Given the description of an element on the screen output the (x, y) to click on. 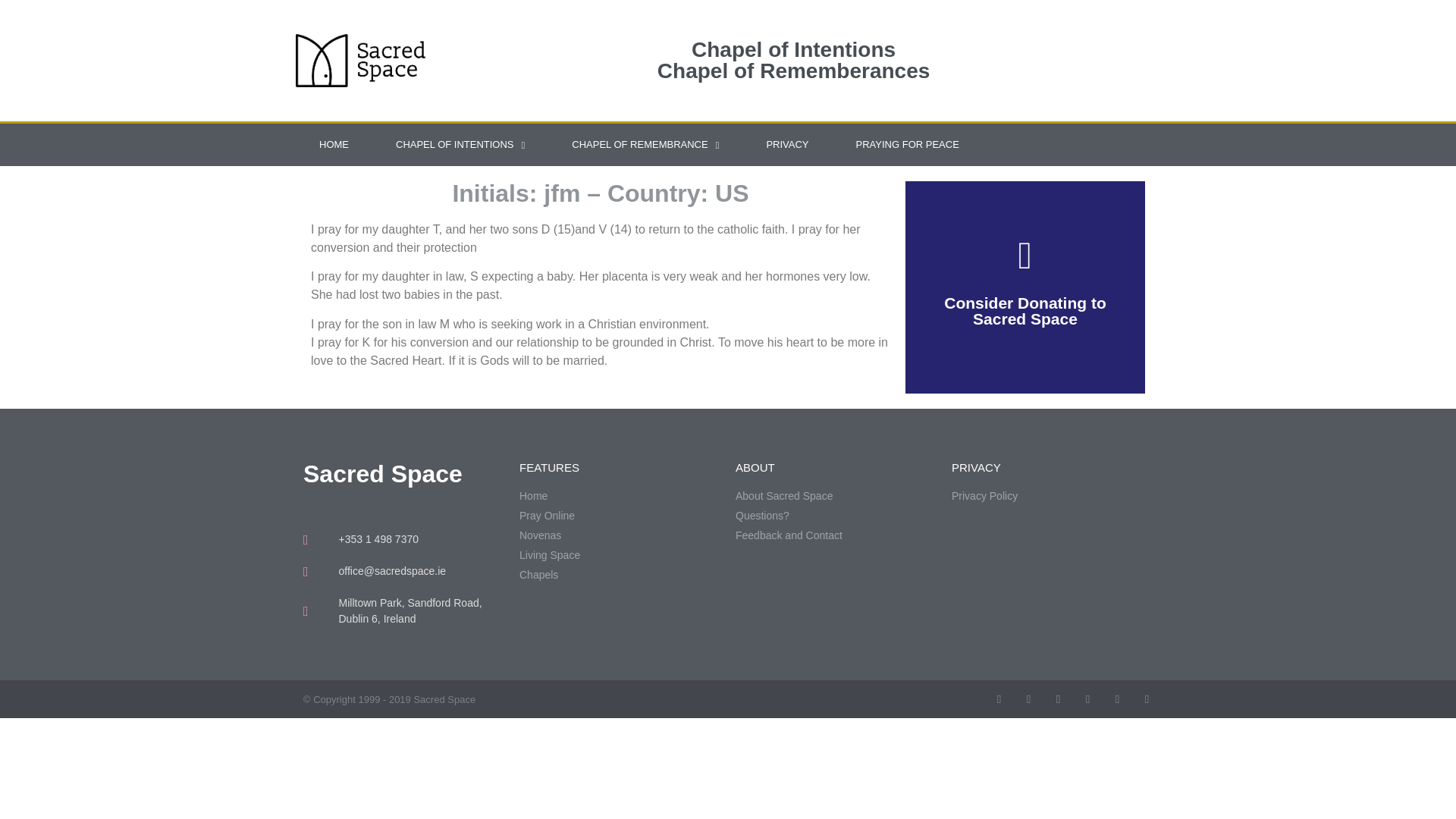
PRAYING FOR PEACE (907, 144)
HOME (333, 144)
Privacy Policy (1052, 496)
Living Space (619, 555)
CHAPEL OF INTENTIONS (460, 144)
CHAPEL OF REMEMBRANCE (645, 144)
About Sacred Space (835, 496)
Questions? (835, 515)
PRIVACY (786, 144)
Novenas (619, 535)
